Given the description of an element on the screen output the (x, y) to click on. 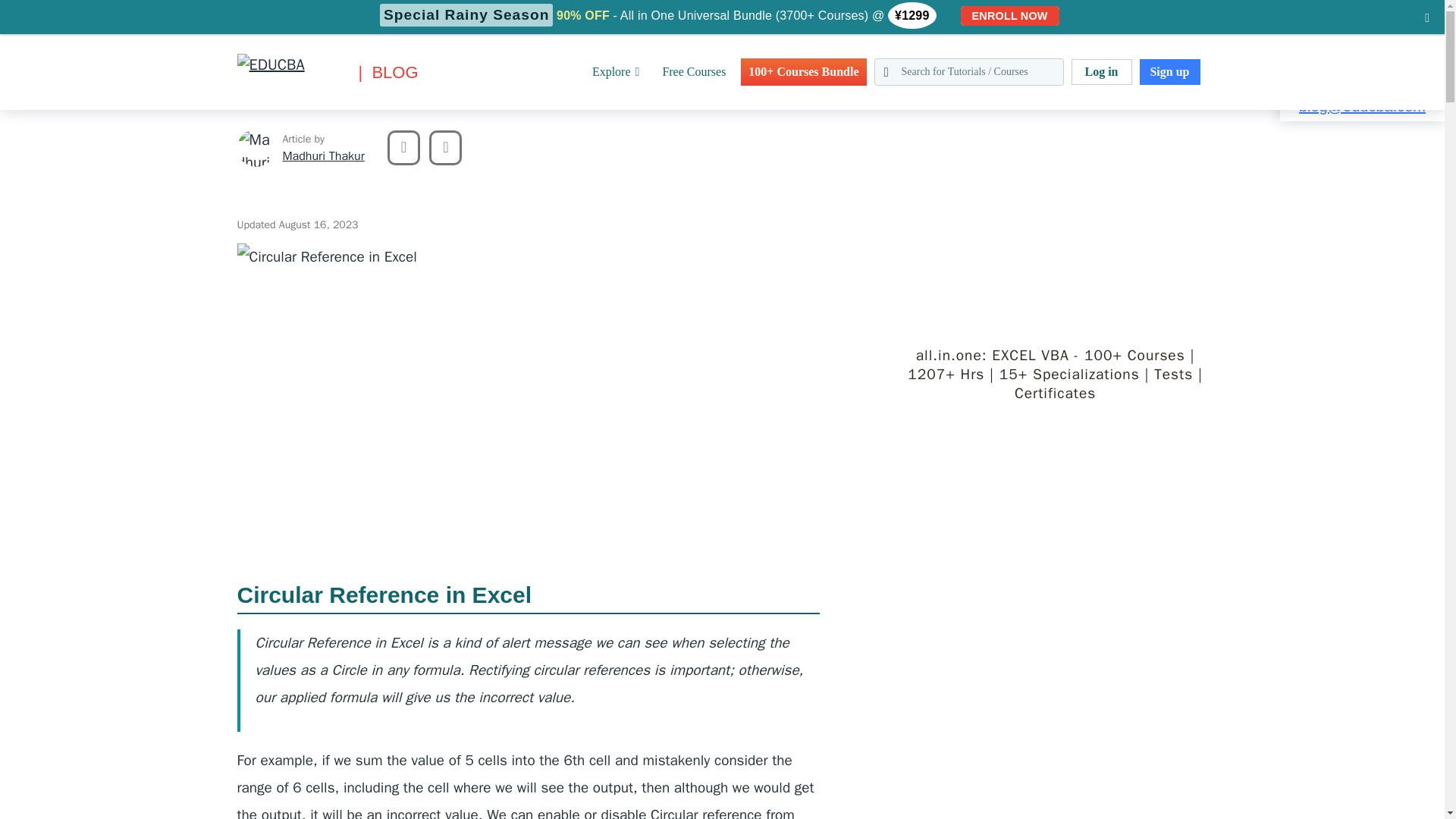
Previous (403, 147)
Sign up (1168, 71)
Excel (52, 9)
Search (43, 19)
Log in (1100, 71)
Madhuri Thakur (255, 147)
Home (13, 9)
Explore (616, 72)
EDUCBA (259, 96)
Free Courses (693, 72)
